Given the description of an element on the screen output the (x, y) to click on. 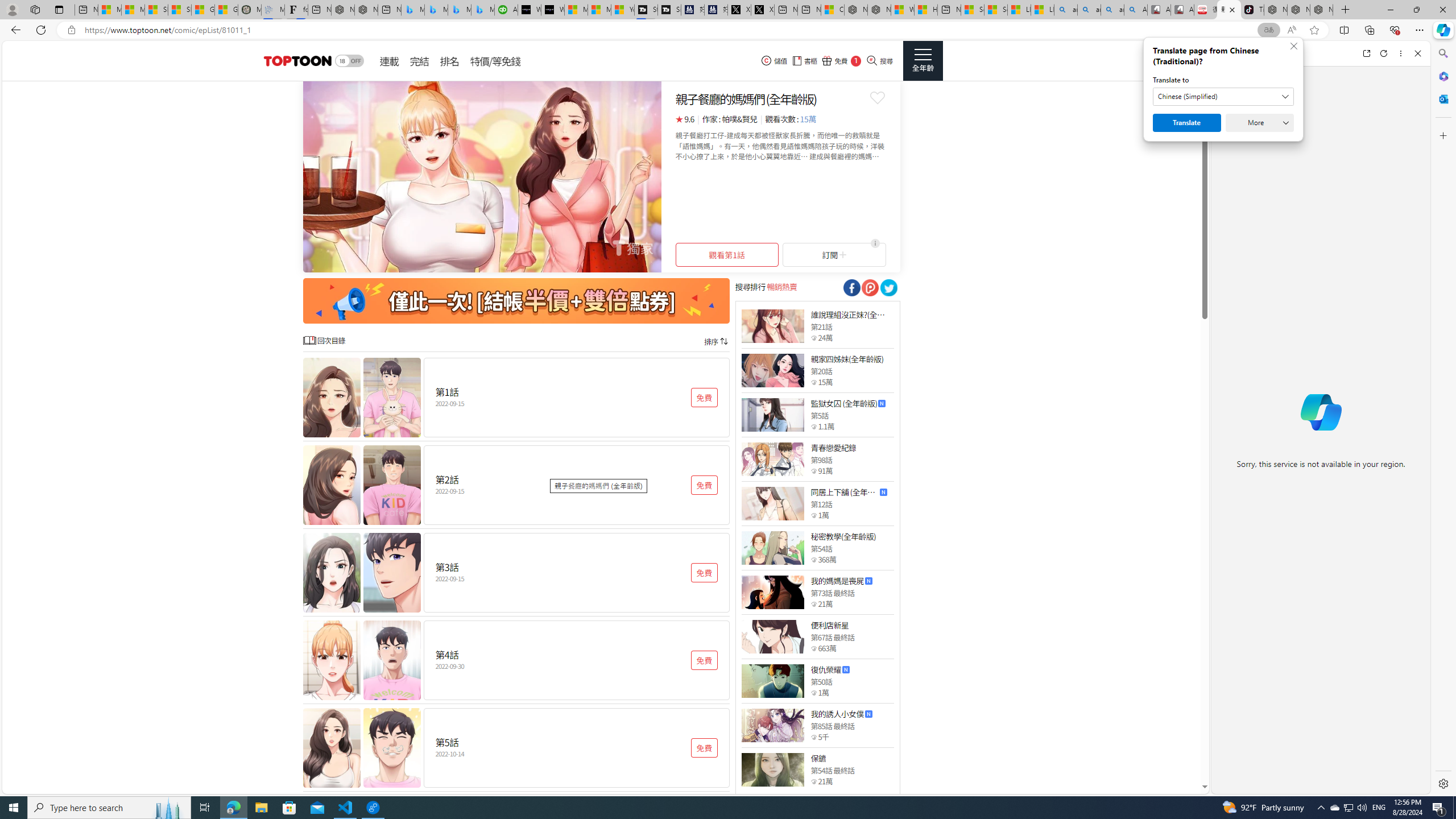
Address and search bar (669, 29)
Microsoft 365 (1442, 76)
